Given the description of an element on the screen output the (x, y) to click on. 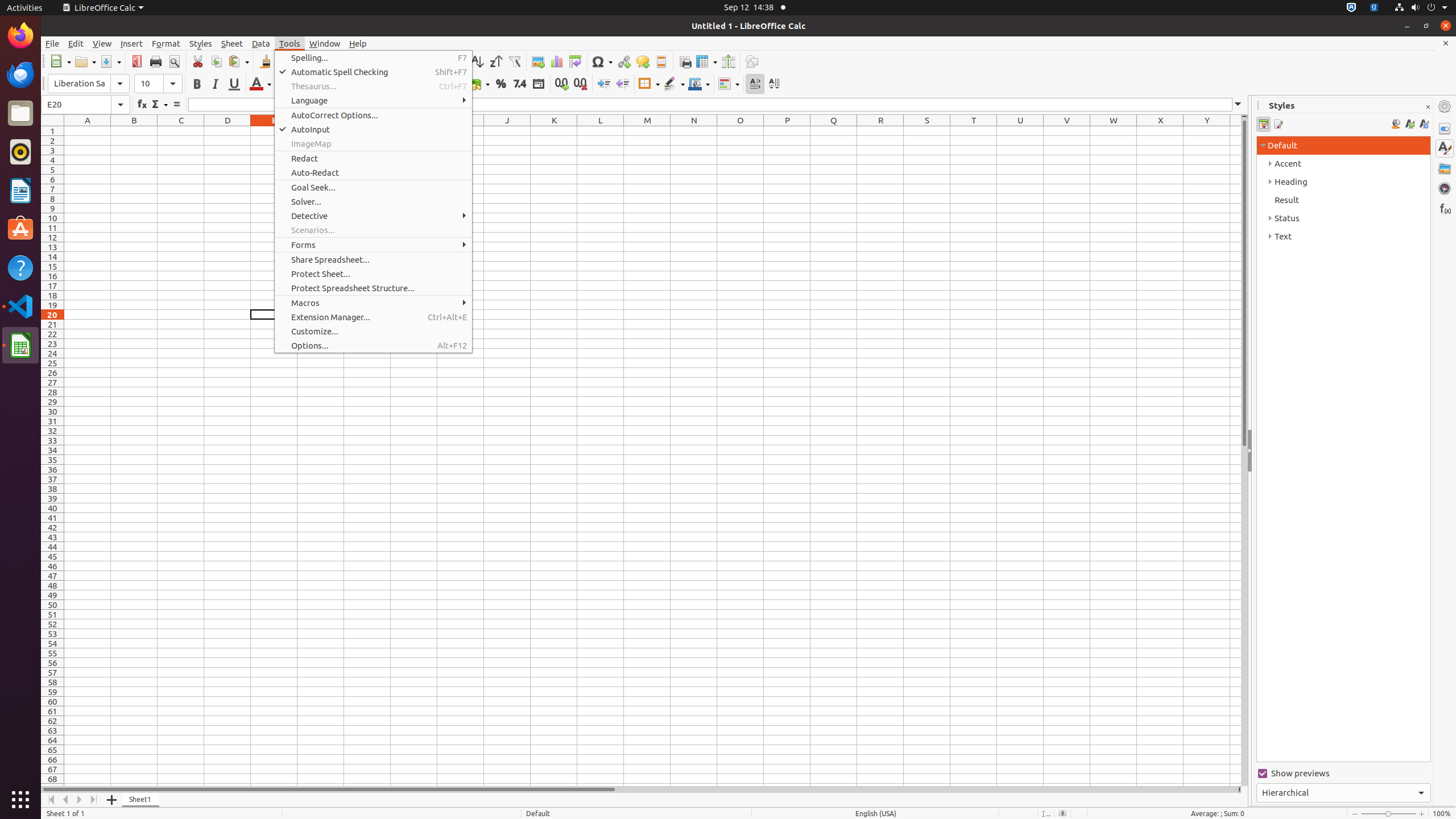
System Element type: menu (1420, 7)
G1 Element type: table-cell (367, 130)
K1 Element type: table-cell (553, 130)
Paste Element type: push-button (237, 61)
R1 Element type: table-cell (880, 130)
